Given the description of an element on the screen output the (x, y) to click on. 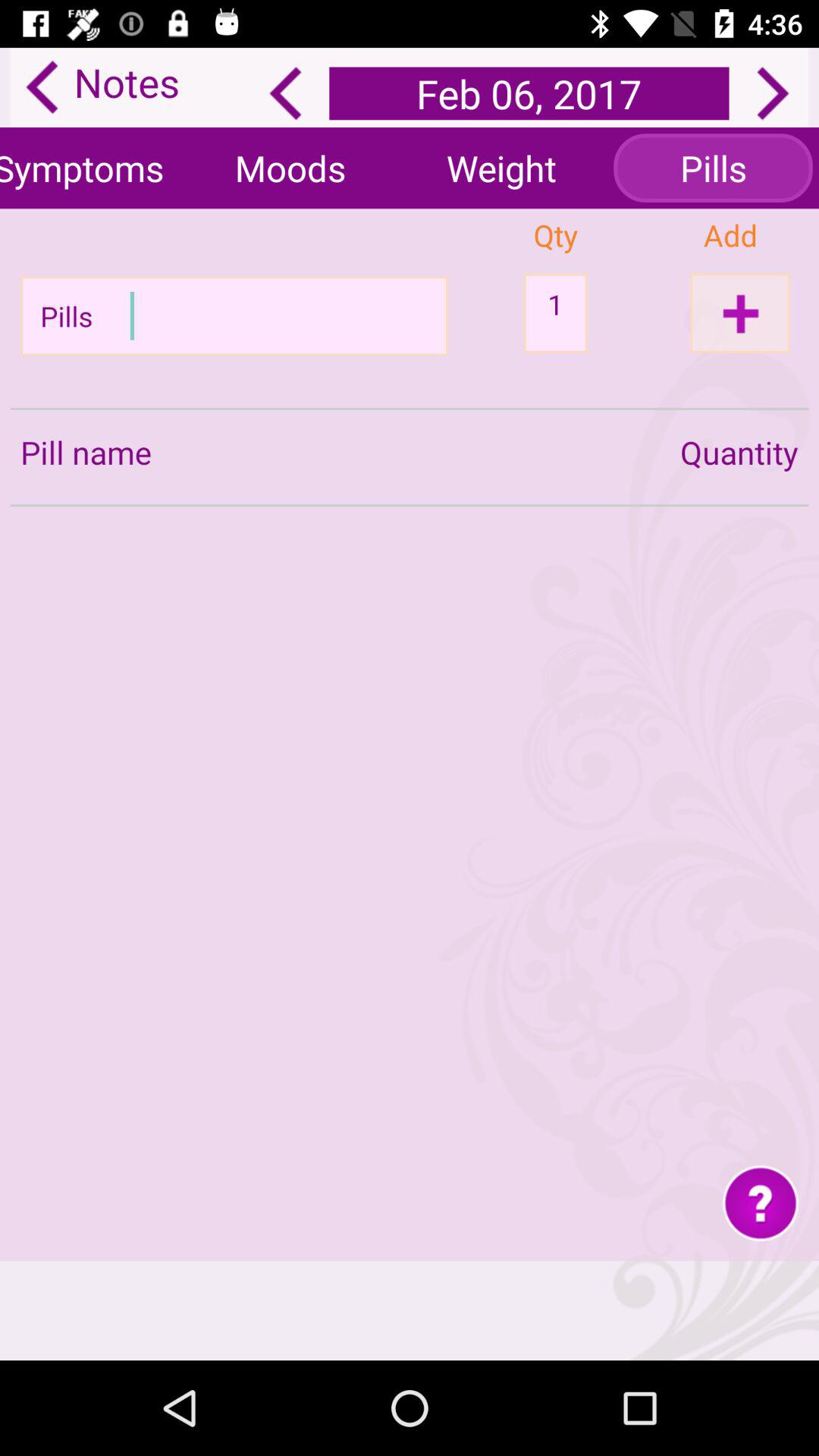
enter pill name (239, 315)
